Given the description of an element on the screen output the (x, y) to click on. 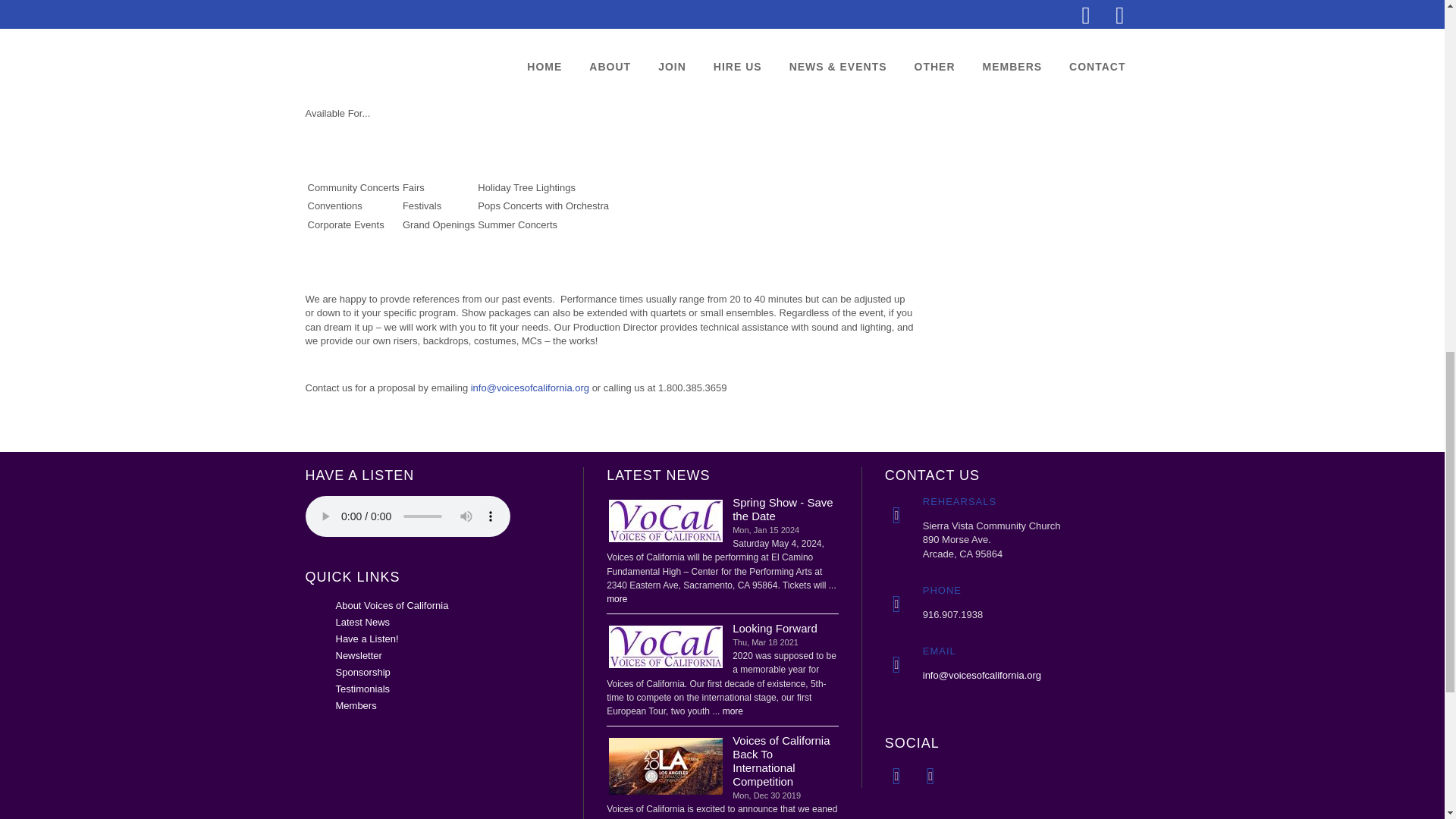
RSS Feeds (930, 775)
Looking Forward (666, 646)
Spring Show - Save the Date (666, 520)
Voices of California Back To International Competition (666, 765)
Visit us on Facebook (896, 775)
